Given the description of an element on the screen output the (x, y) to click on. 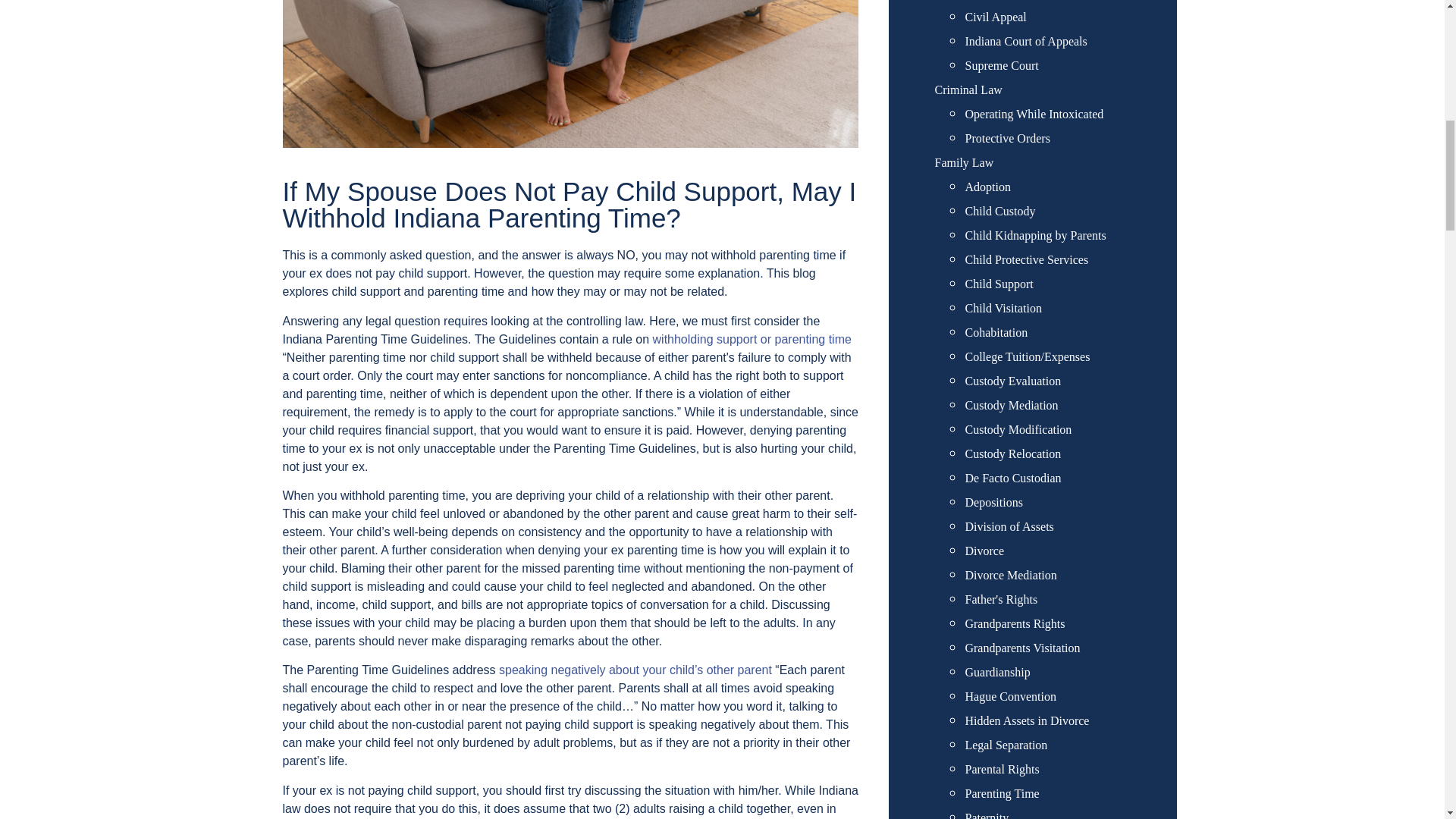
withholding support or parenting time (751, 338)
